Given the description of an element on the screen output the (x, y) to click on. 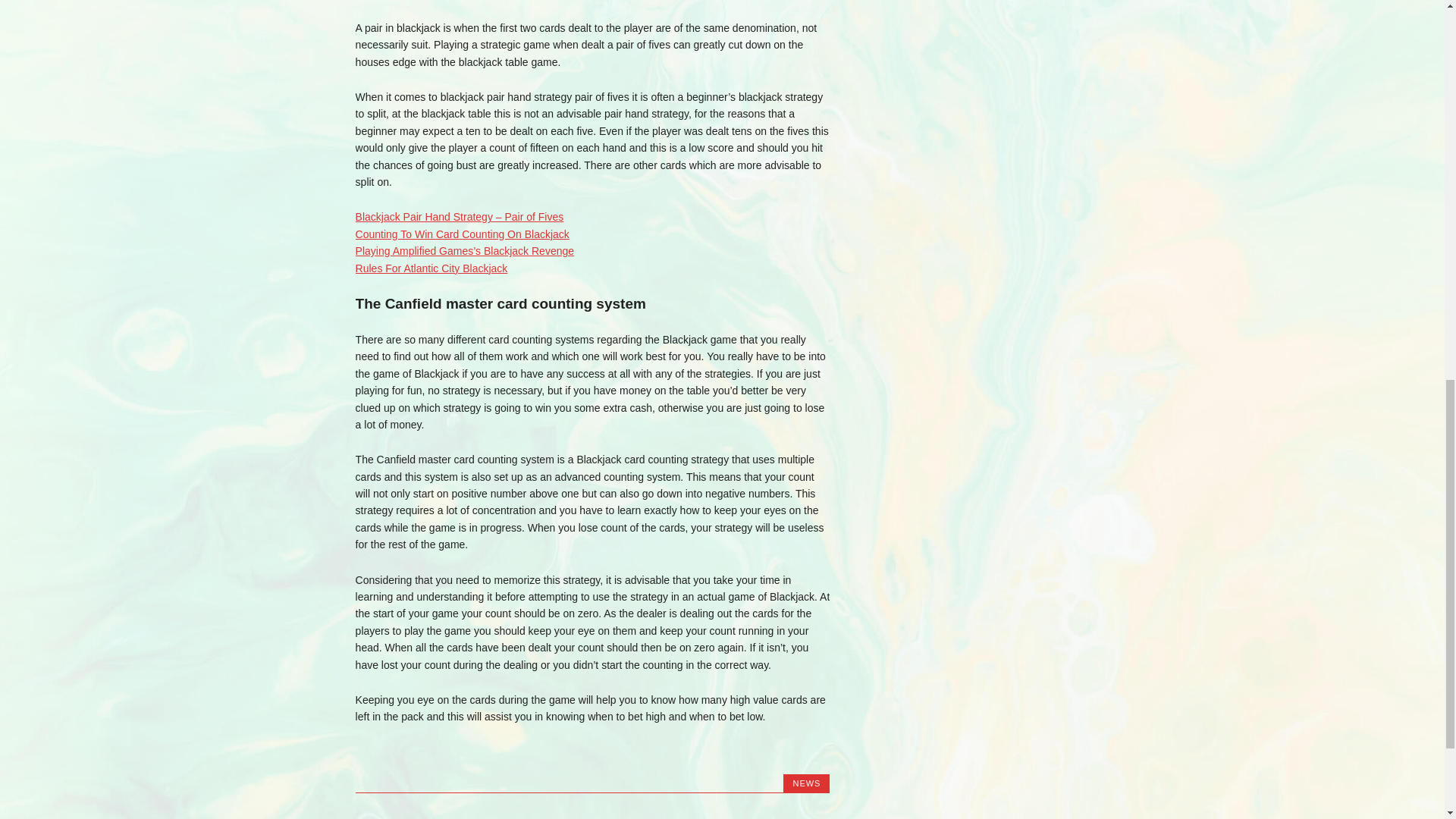
Counting To Win Card Counting On Blackjack (462, 234)
NEWS (806, 782)
Rules For Atlantic City Blackjack (431, 268)
